Given the description of an element on the screen output the (x, y) to click on. 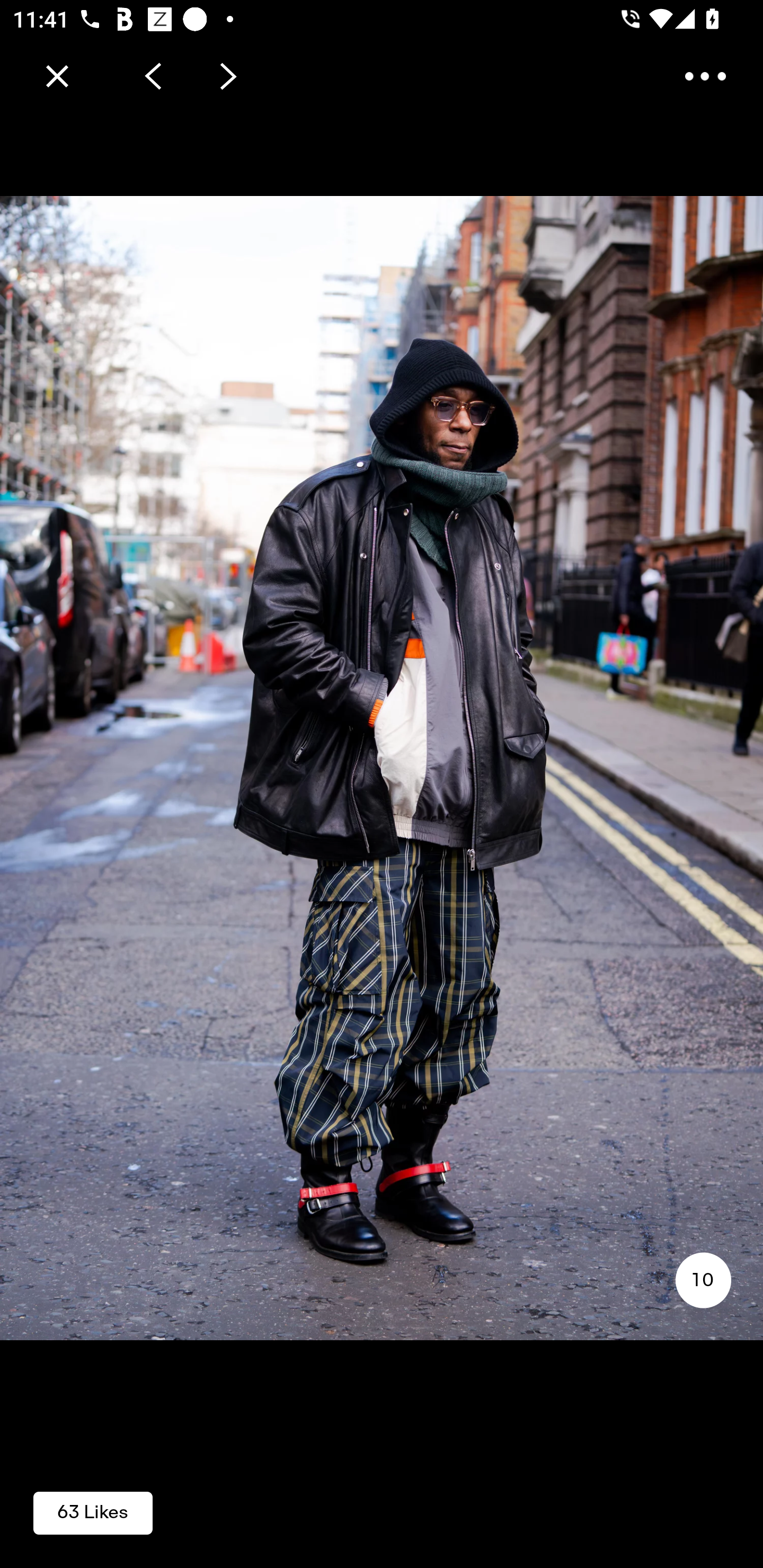
10 (702, 1279)
63 Likes (93, 1512)
